Given the description of an element on the screen output the (x, y) to click on. 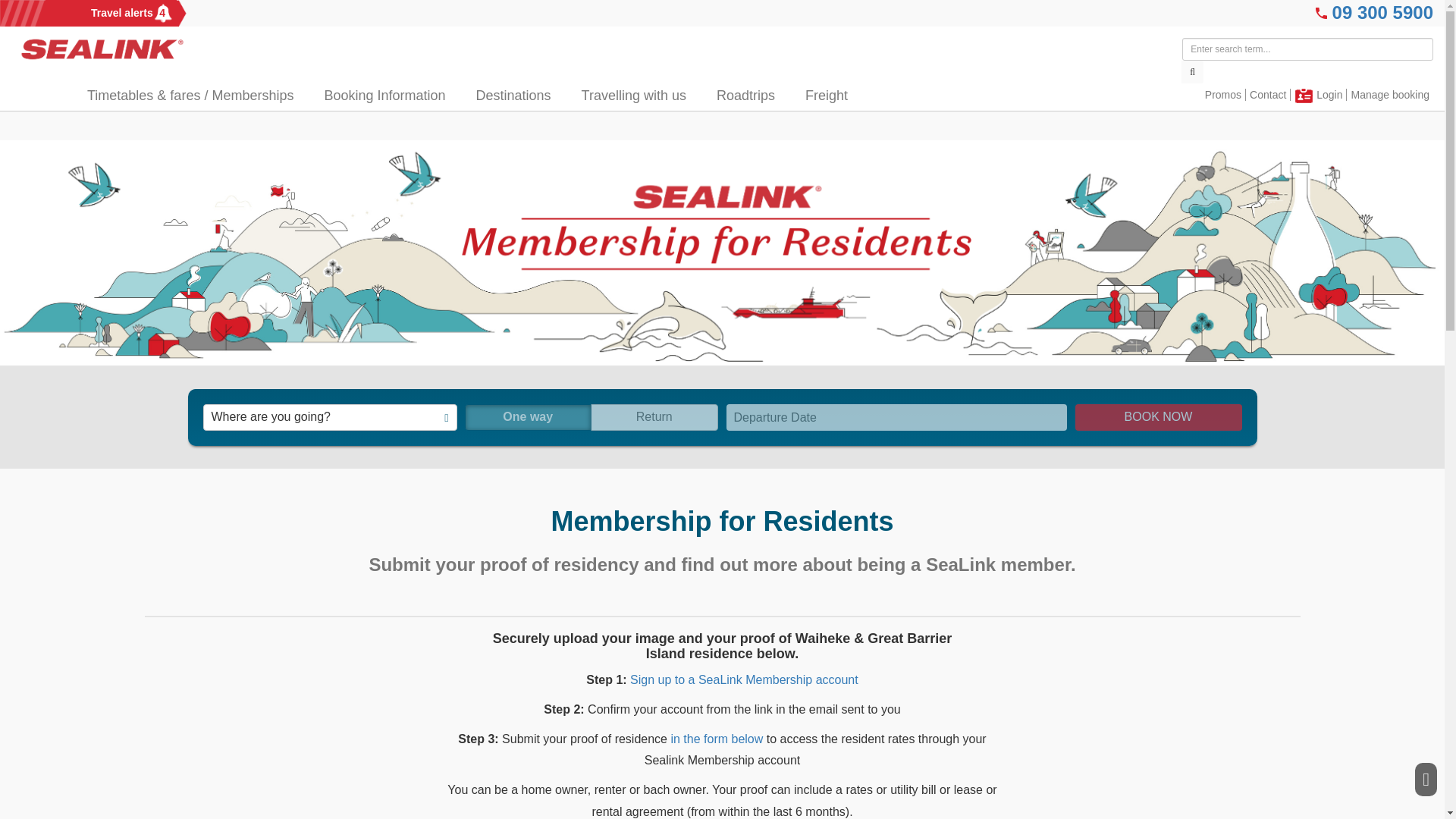
Booking Information (399, 95)
Travelling with us (648, 95)
09 300 5900 (1382, 12)
Roadtrips (110, 13)
Destinations (760, 95)
Freight (528, 95)
